Given the description of an element on the screen output the (x, y) to click on. 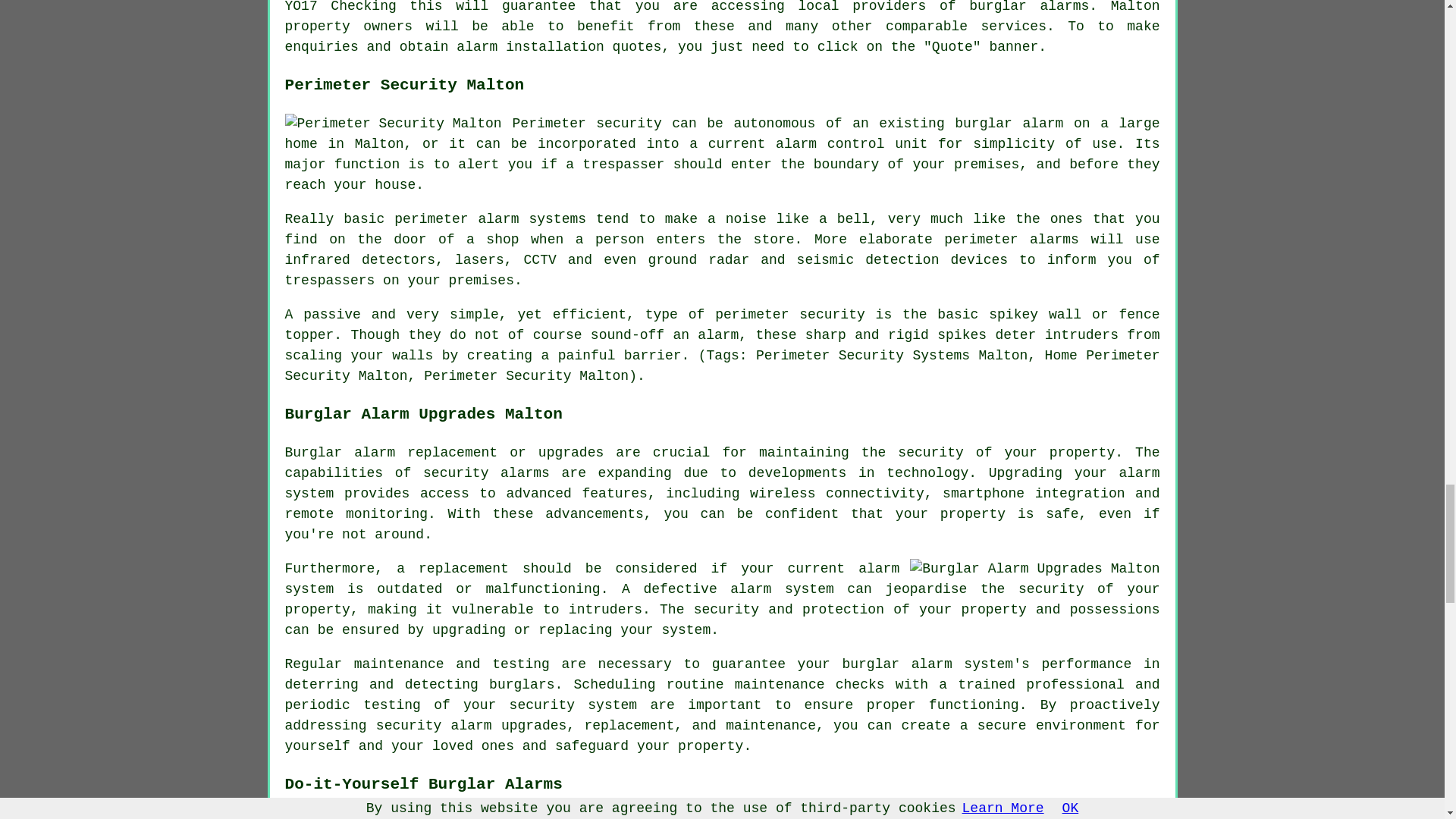
DIY Burglar Alarms Malton (1050, 815)
Perimeter Security Malton (393, 123)
alarm system (722, 483)
Burglar Alarm Upgrades Malton (1034, 568)
alarm installation (530, 46)
